Given the description of an element on the screen output the (x, y) to click on. 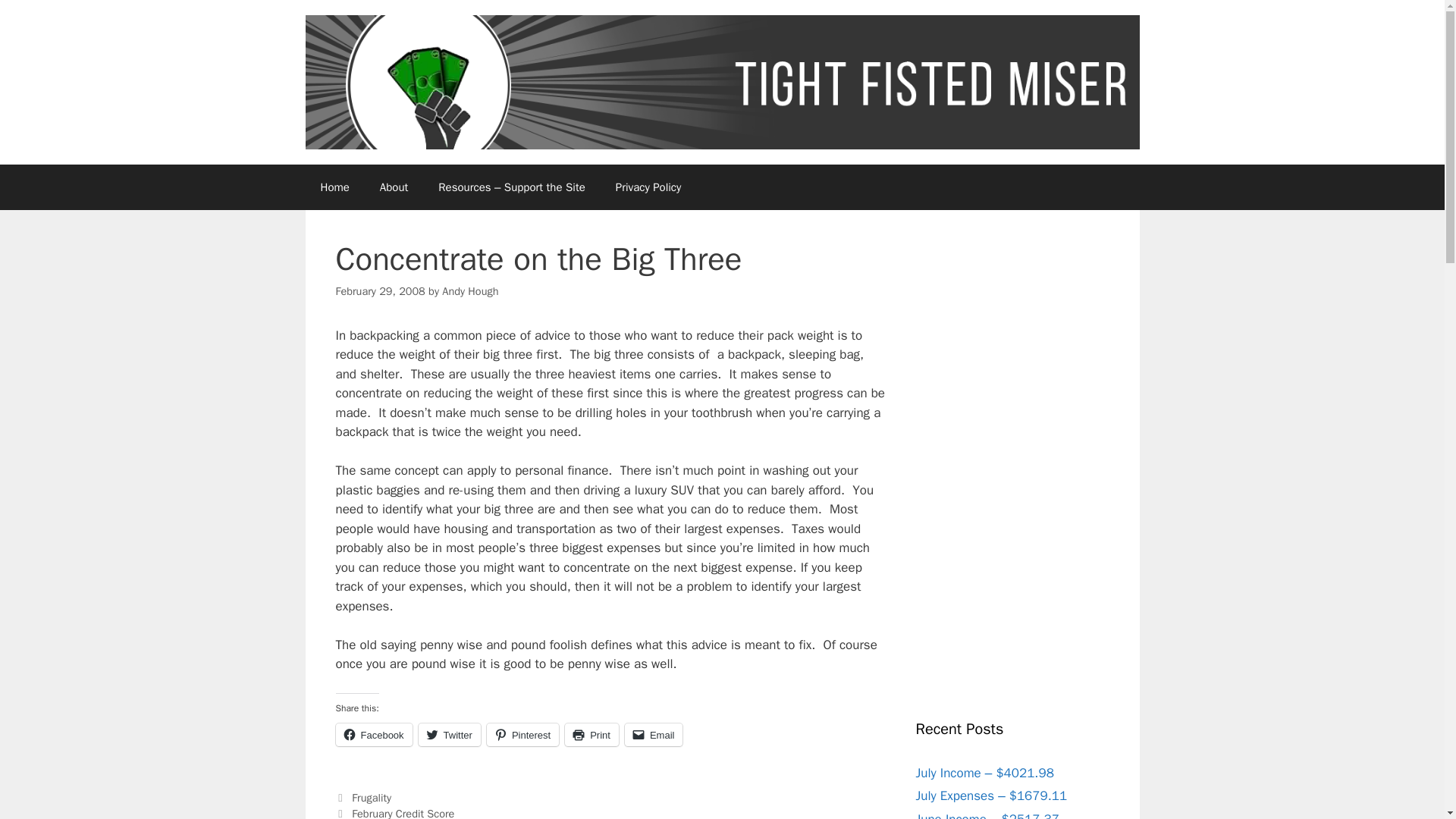
February Credit Score (403, 812)
About (394, 186)
View all posts by Andy Hough (469, 291)
Click to share on Twitter (449, 734)
Email (653, 734)
Home (334, 186)
Click to share on Facebook (373, 734)
Click to email a link to a friend (653, 734)
Facebook (373, 734)
Search (35, 18)
